Given the description of an element on the screen output the (x, y) to click on. 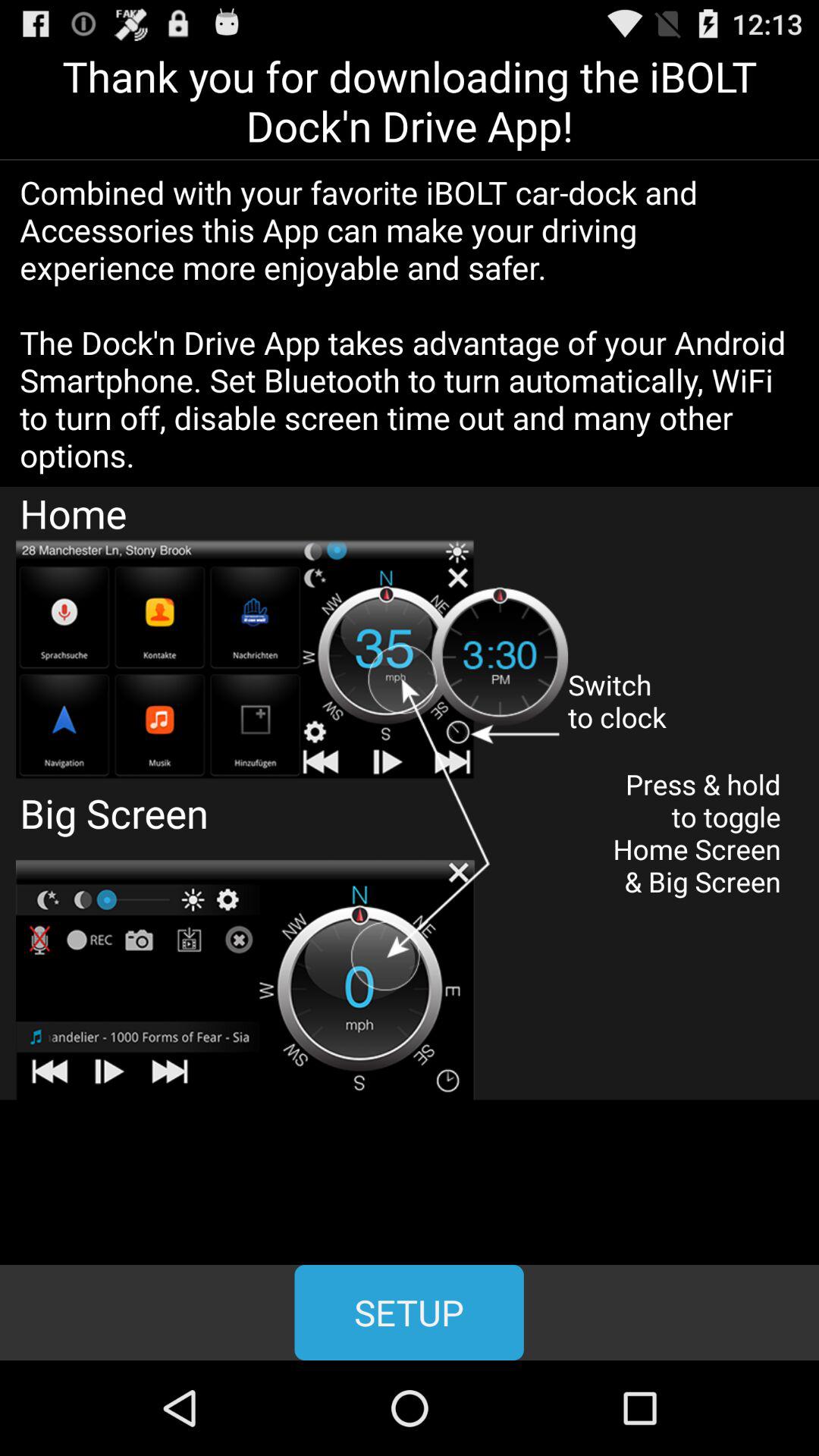
launch setup icon (408, 1312)
